Given the description of an element on the screen output the (x, y) to click on. 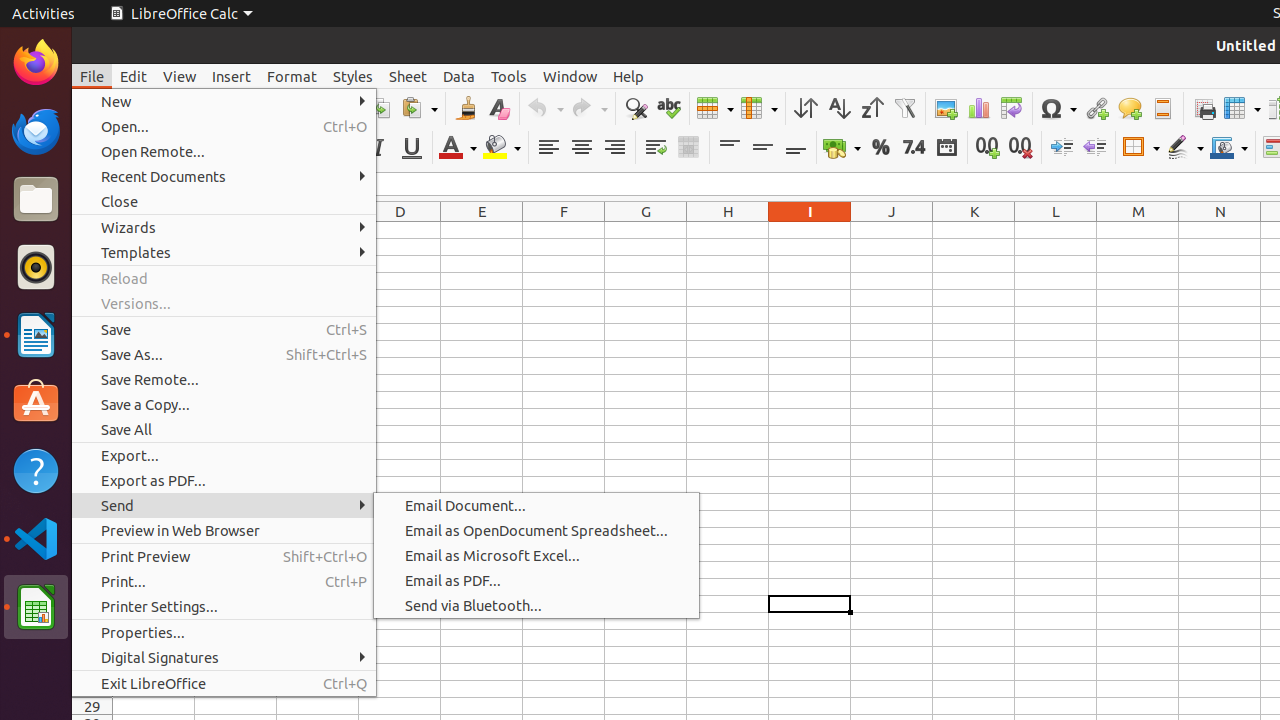
Decrease Element type: push-button (1094, 147)
Sort Element type: push-button (805, 108)
Insert Element type: menu (231, 76)
Date Element type: push-button (946, 147)
Reload Element type: menu-item (224, 278)
